Given the description of an element on the screen output the (x, y) to click on. 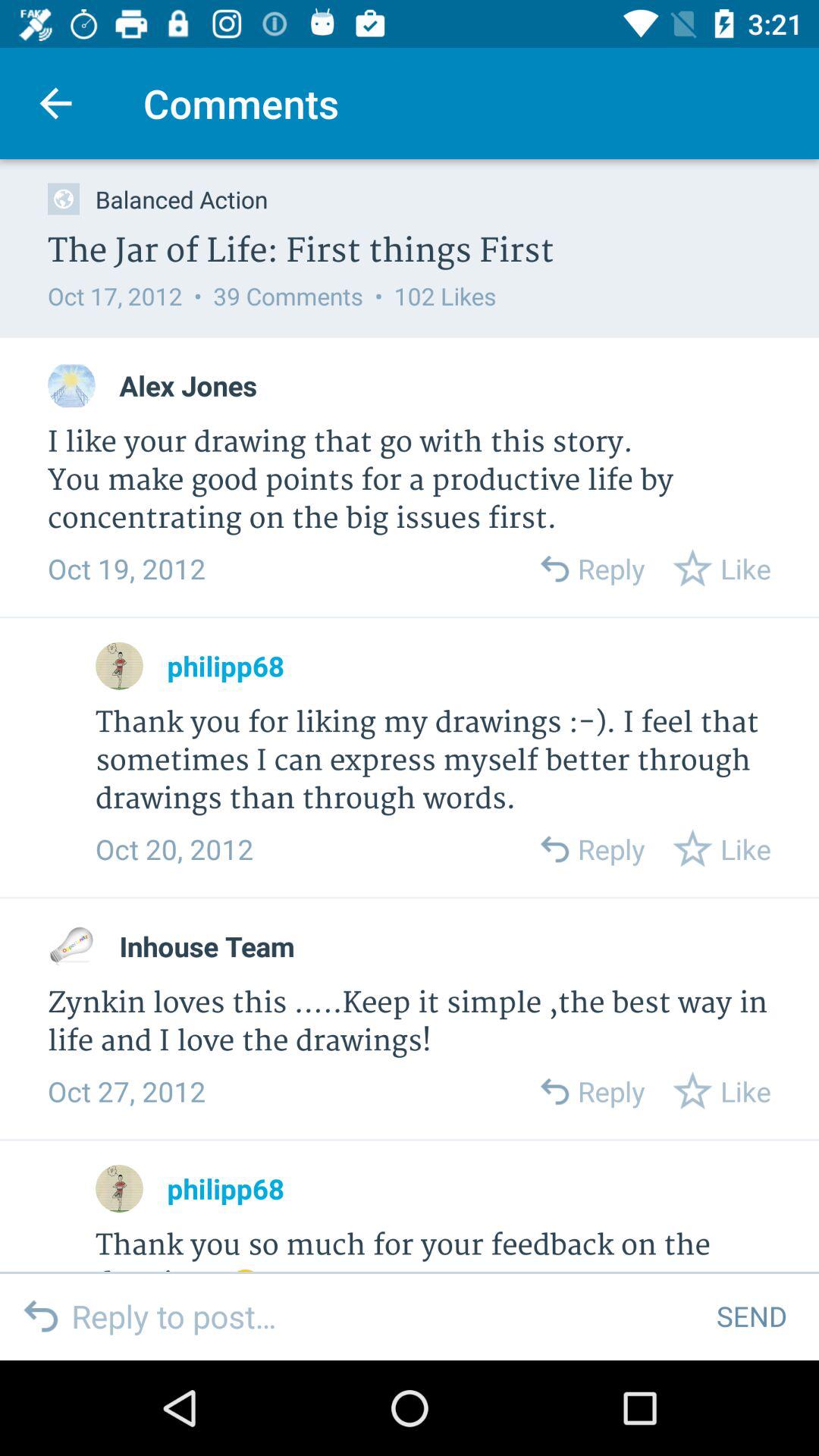
select the icon to the left of comments item (55, 103)
